Given the description of an element on the screen output the (x, y) to click on. 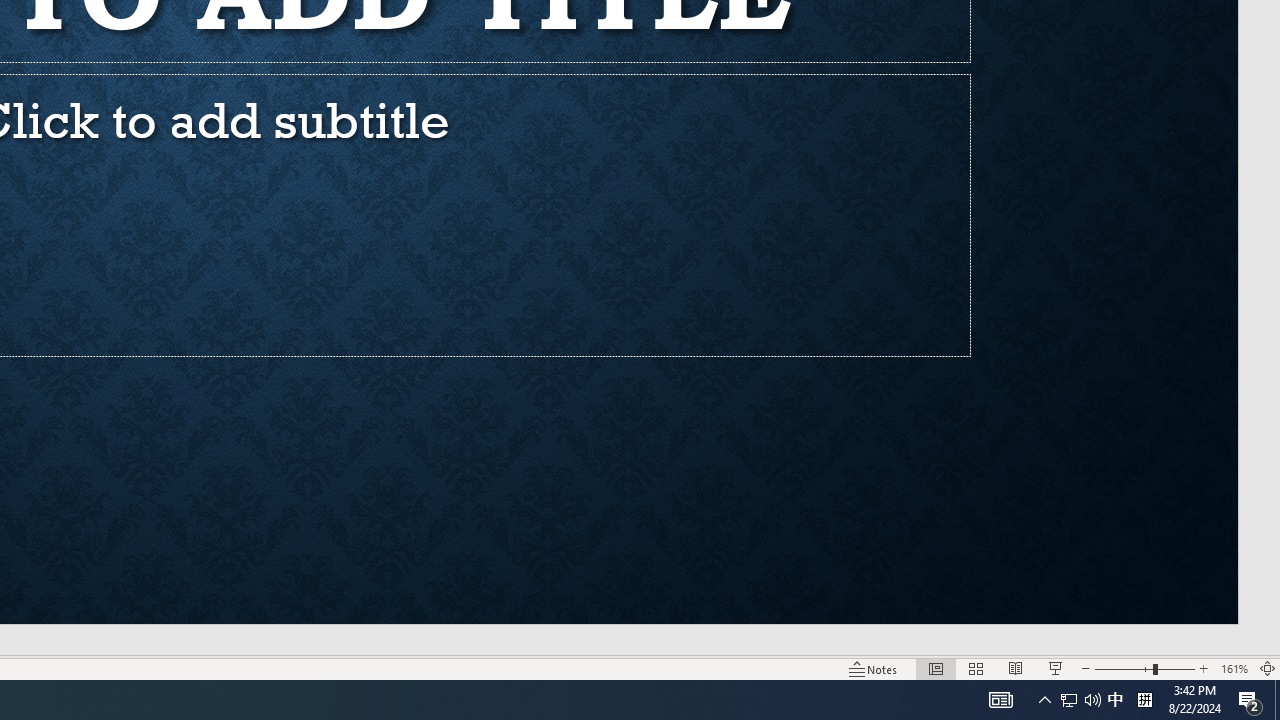
Zoom 161% (1234, 668)
